Given the description of an element on the screen output the (x, y) to click on. 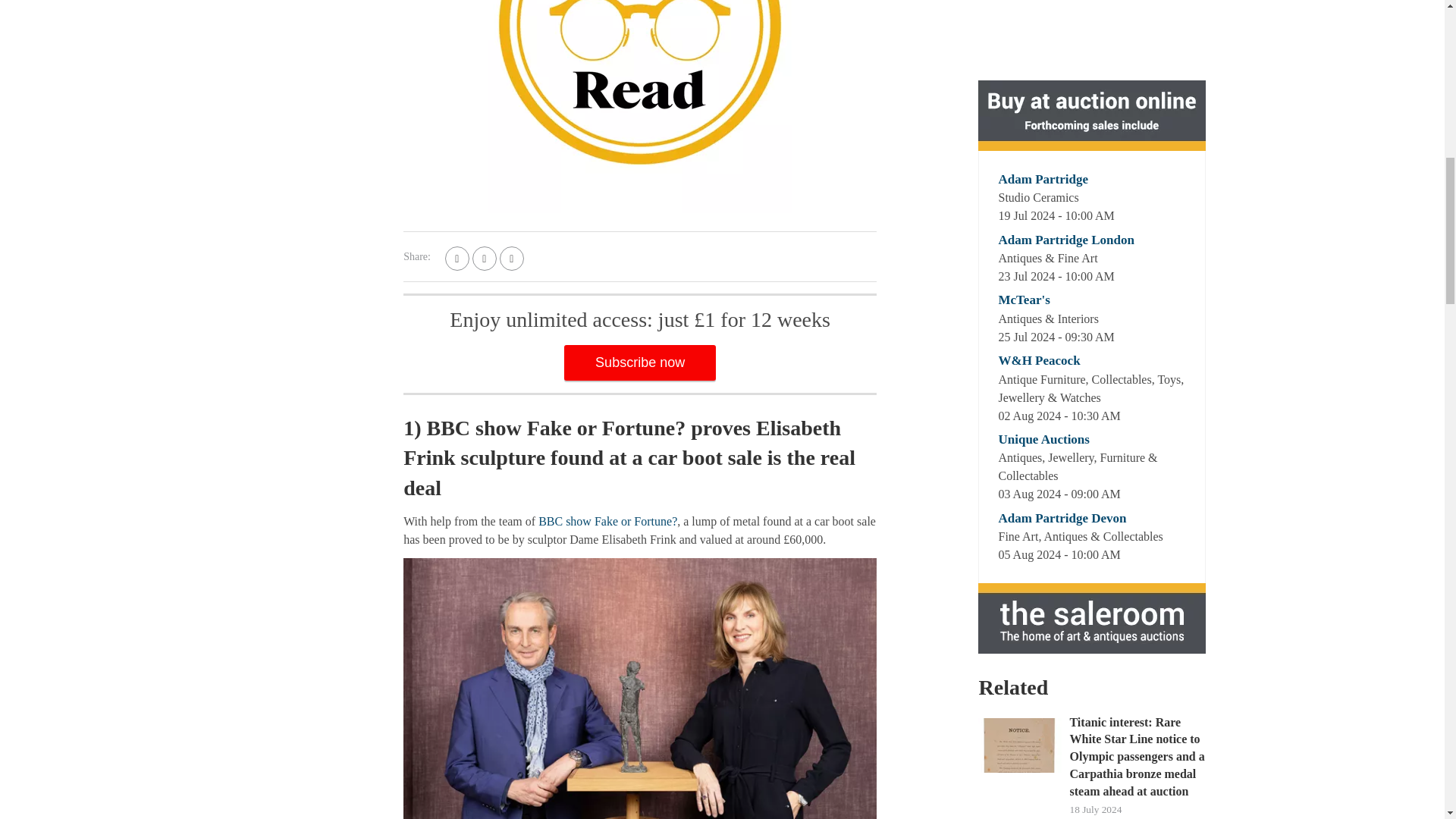
3rd party ad content (1091, 37)
Philip Mould and Fiona Bruce (639, 688)
the saleroom (1091, 618)
the saleroom (1091, 115)
Most Read.jpg (639, 106)
